Given the description of an element on the screen output the (x, y) to click on. 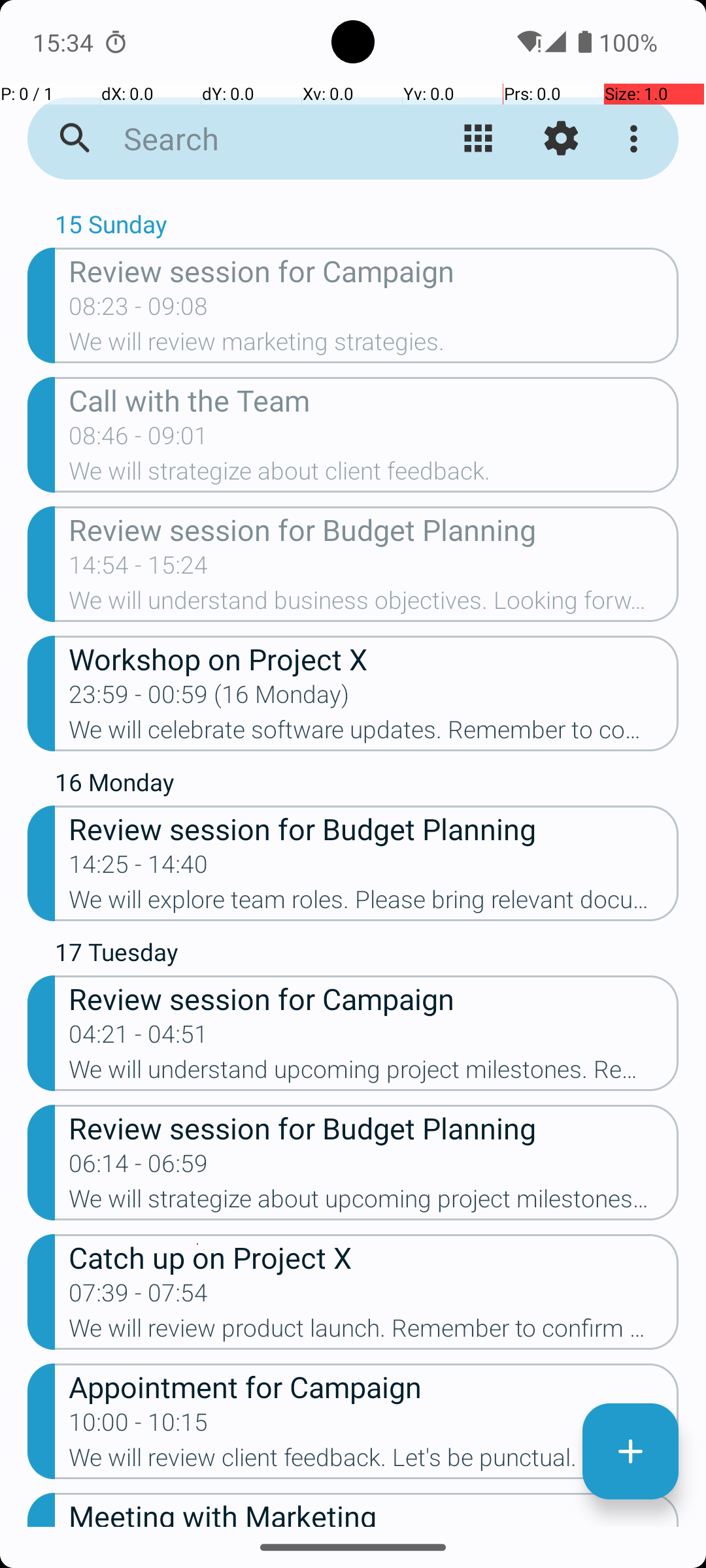
08:23 - 09:08 Element type: android.widget.TextView (137, 309)
We will review marketing strategies. Element type: android.widget.TextView (373, 345)
08:46 - 09:01 Element type: android.widget.TextView (137, 439)
We will strategize about client feedback. Element type: android.widget.TextView (373, 474)
14:54 - 15:24 Element type: android.widget.TextView (137, 568)
We will understand business objectives. Looking forward to productive discussions. Element type: android.widget.TextView (373, 603)
23:59 - 00:59 (16 Monday) Element type: android.widget.TextView (208, 698)
We will celebrate software updates. Remember to confirm attendance. Element type: android.widget.TextView (373, 733)
14:25 - 14:40 Element type: android.widget.TextView (137, 867)
We will explore team roles. Please bring relevant documents. Element type: android.widget.TextView (373, 903)
04:21 - 04:51 Element type: android.widget.TextView (137, 1037)
We will understand upcoming project milestones. Remember to confirm attendance. Element type: android.widget.TextView (373, 1073)
06:14 - 06:59 Element type: android.widget.TextView (137, 1167)
We will strategize about upcoming project milestones. Looking forward to productive discussions. Element type: android.widget.TextView (373, 1202)
07:39 - 07:54 Element type: android.widget.TextView (137, 1296)
We will review product launch. Remember to confirm attendance. Element type: android.widget.TextView (373, 1331)
10:00 - 10:15 Element type: android.widget.TextView (137, 1425)
We will review client feedback. Let's be punctual. Element type: android.widget.TextView (373, 1461)
